Given the description of an element on the screen output the (x, y) to click on. 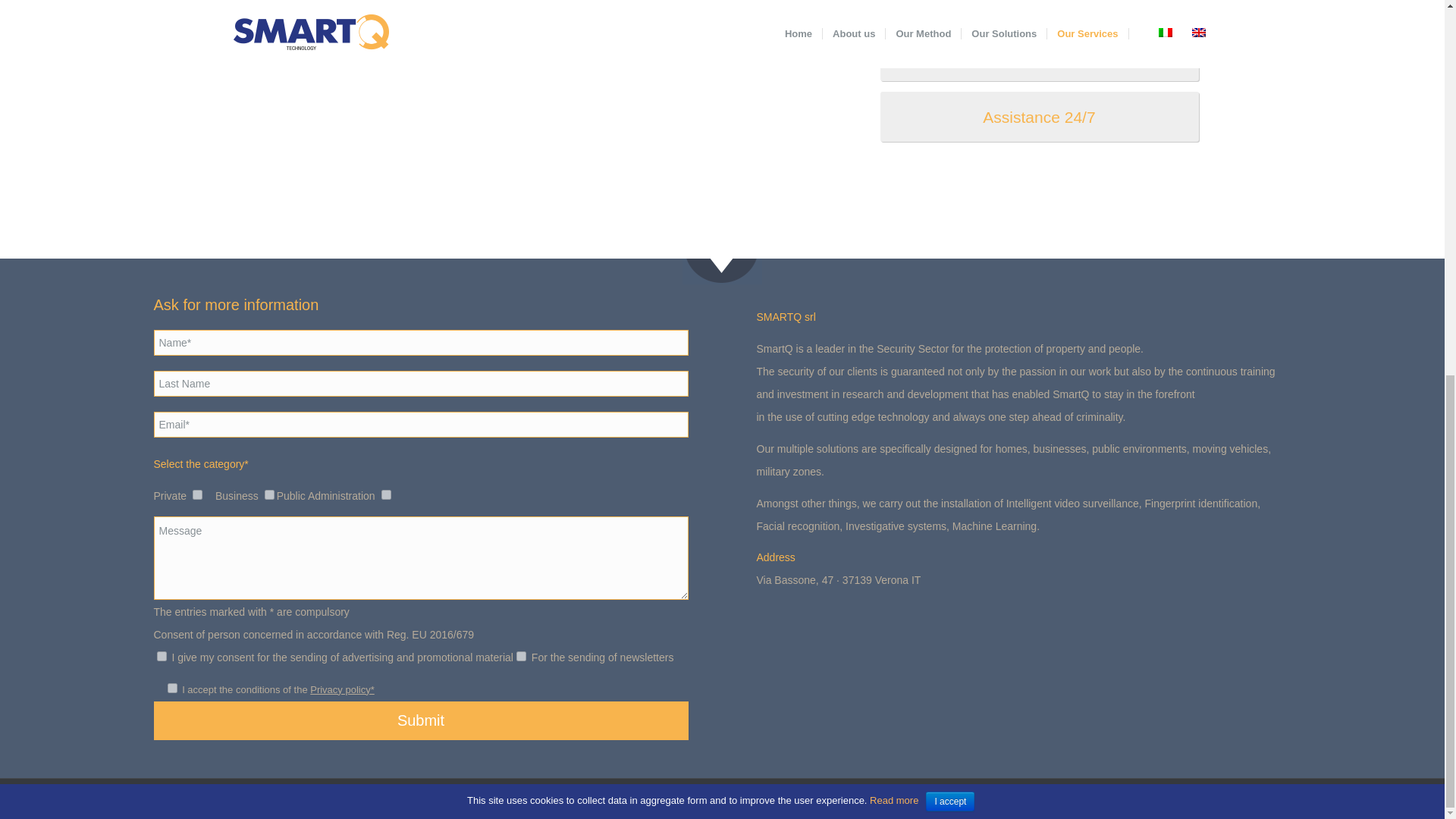
1 (171, 687)
Privacy policy (578, 798)
Business (269, 494)
For the sending of newsletters (520, 655)
Private (197, 494)
Installation (1038, 9)
Public Administration (386, 494)
Submit (419, 720)
Submit (419, 720)
Maintenance (1038, 56)
Cookies (626, 798)
I accept (950, 112)
Read more (892, 111)
